Given the description of an element on the screen output the (x, y) to click on. 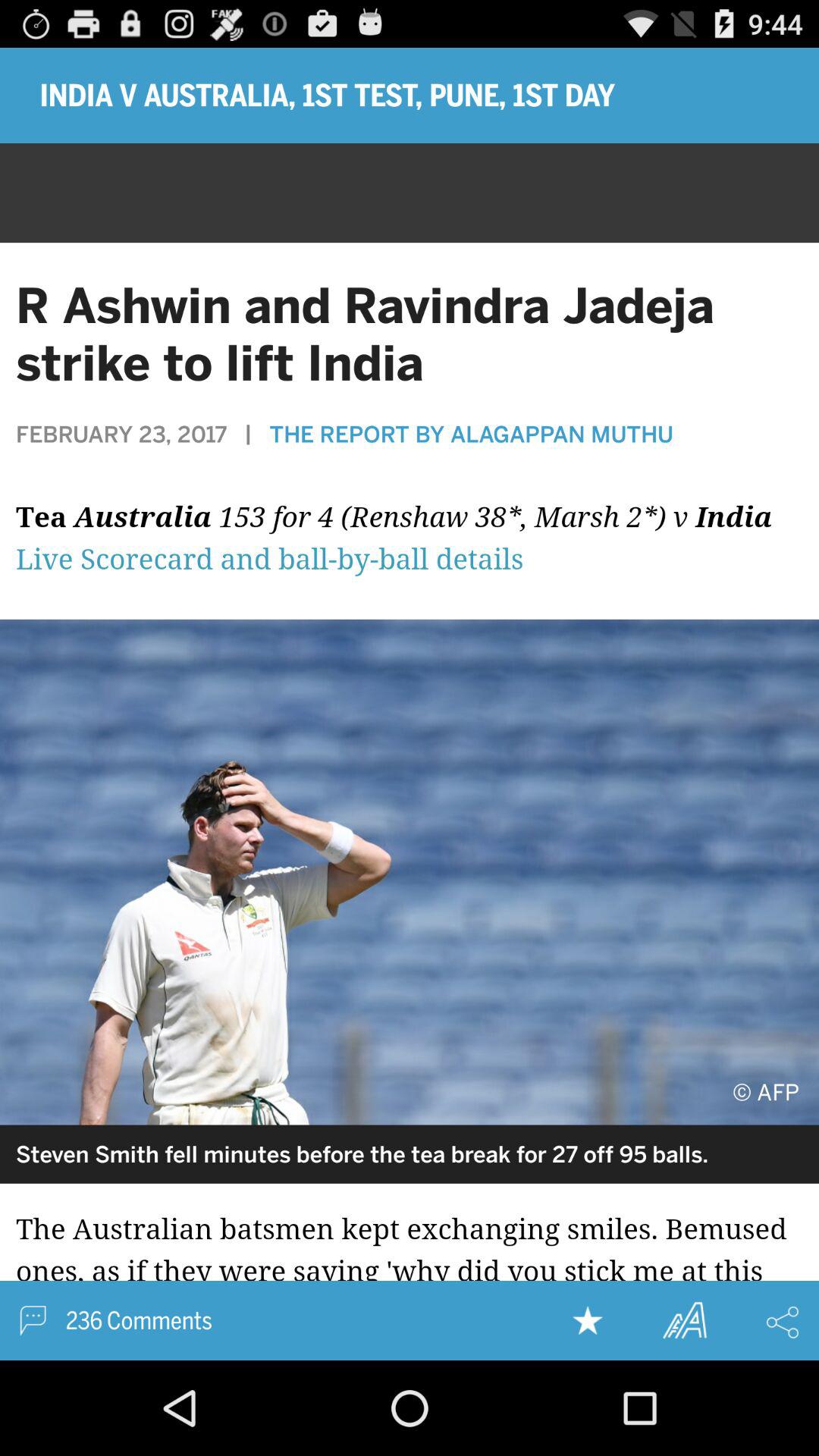
comments (32, 1320)
